Given the description of an element on the screen output the (x, y) to click on. 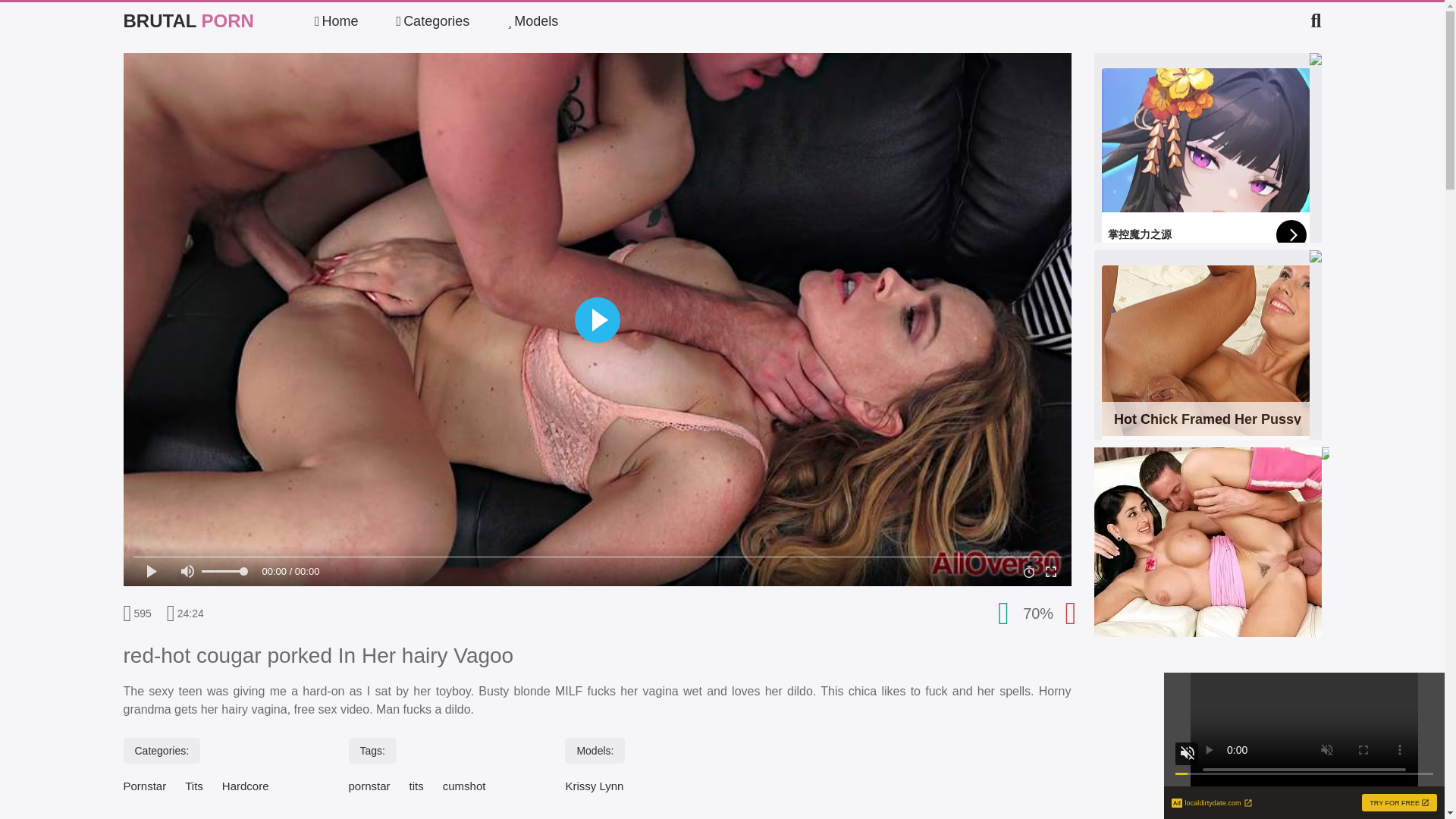
Categories (433, 21)
Hardcore (245, 785)
Home (336, 21)
BRUTAL PORN (187, 21)
Pornstar (143, 785)
Krissy Lynn (1206, 360)
pornstar (593, 785)
cumshot (369, 785)
Models (464, 785)
